Given the description of an element on the screen output the (x, y) to click on. 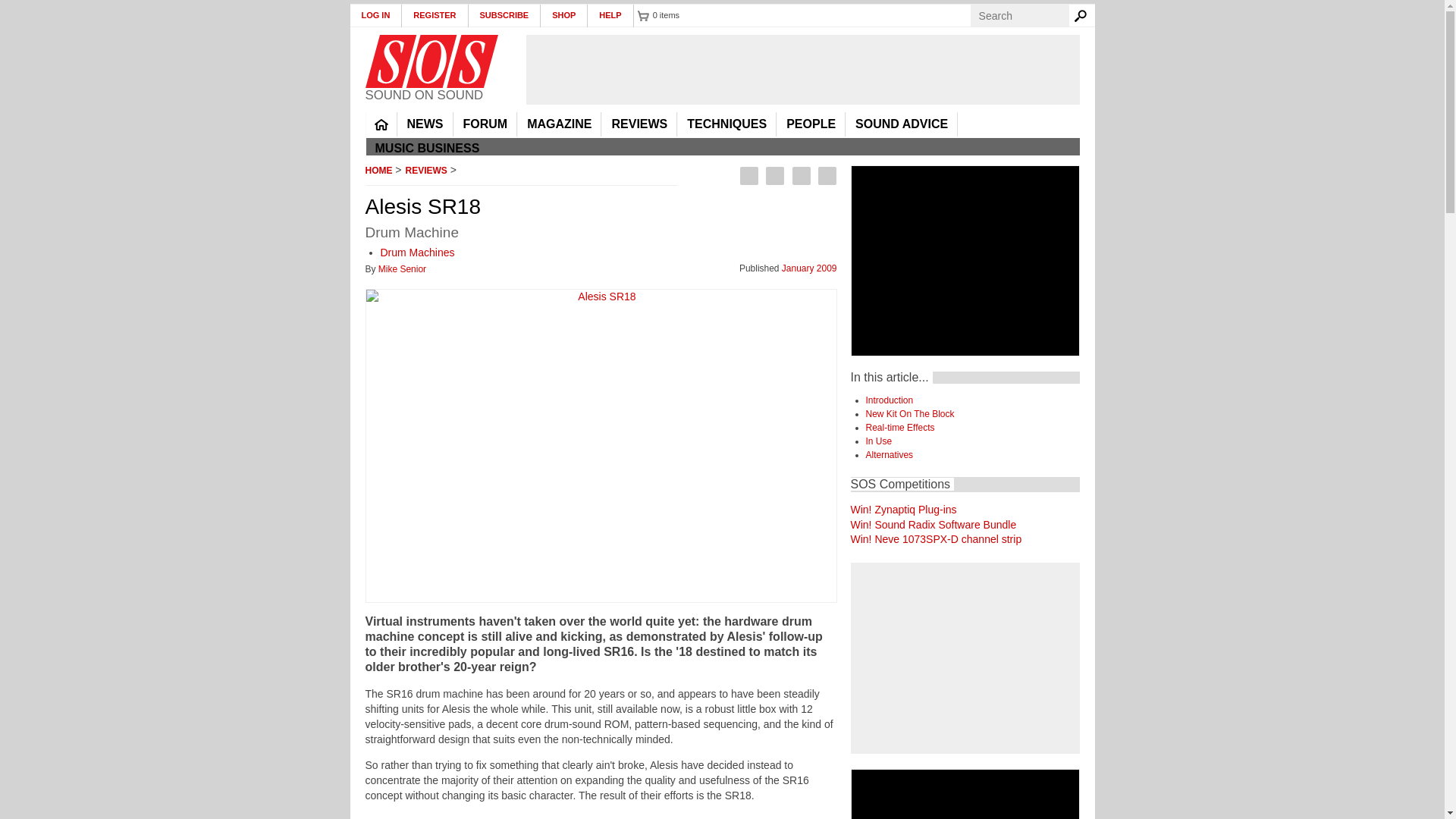
SUBSCRIBE (504, 15)
Home (431, 61)
MAGAZINE (558, 124)
REGISTER (434, 15)
HELP (610, 15)
SHOP (564, 15)
Search (1082, 15)
NEWS (424, 124)
HOME (380, 124)
3rd party ad content (801, 70)
FORUM (484, 124)
Search (1082, 15)
LOG IN (376, 15)
